Given the description of an element on the screen output the (x, y) to click on. 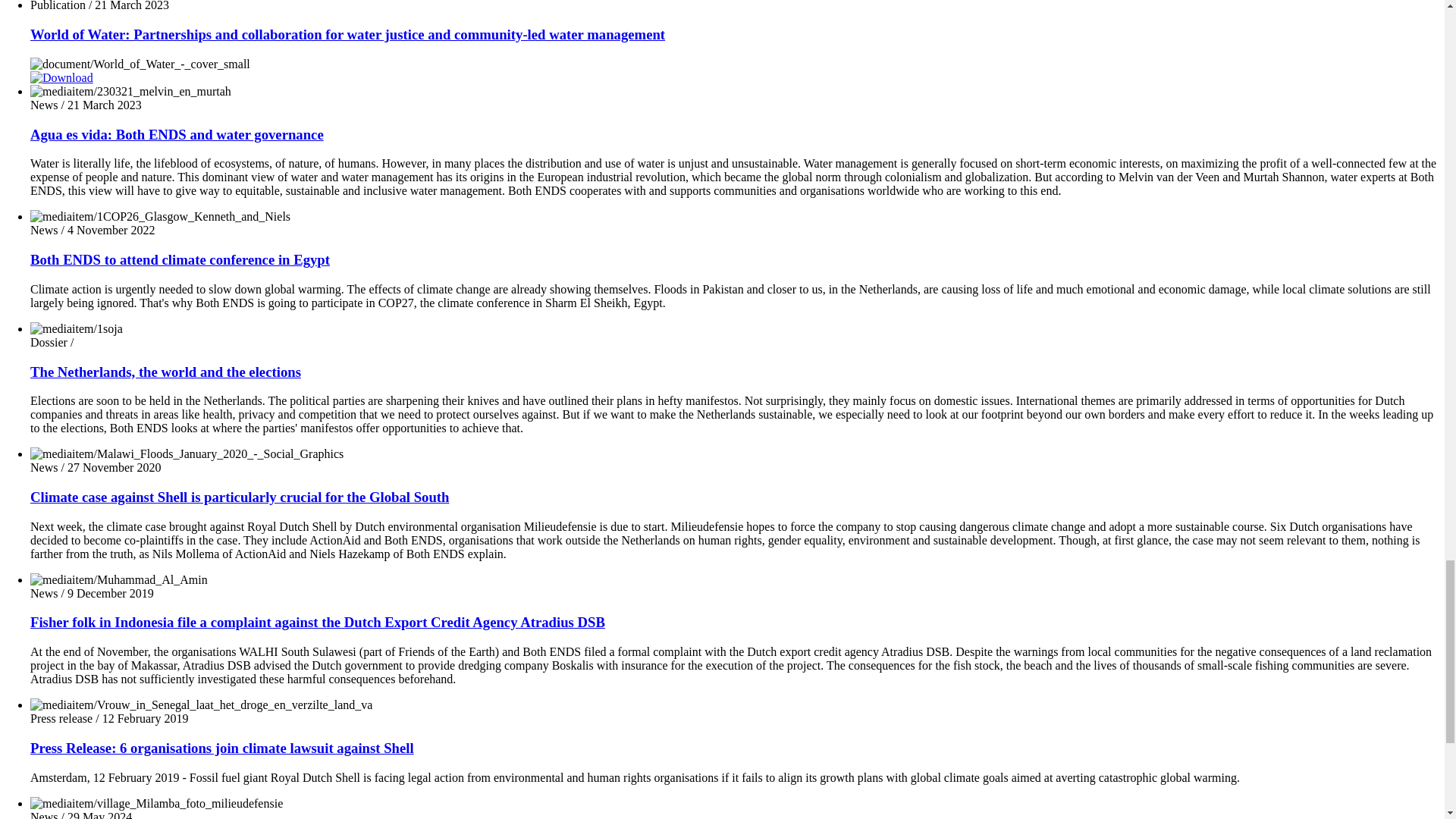
Agua es vida: Both ENDS and water governance (176, 134)
Both ENDS to attend climate conference in Egypt (180, 259)
The Netherlands, the world and the elections (165, 371)
Download (61, 77)
